Given the description of an element on the screen output the (x, y) to click on. 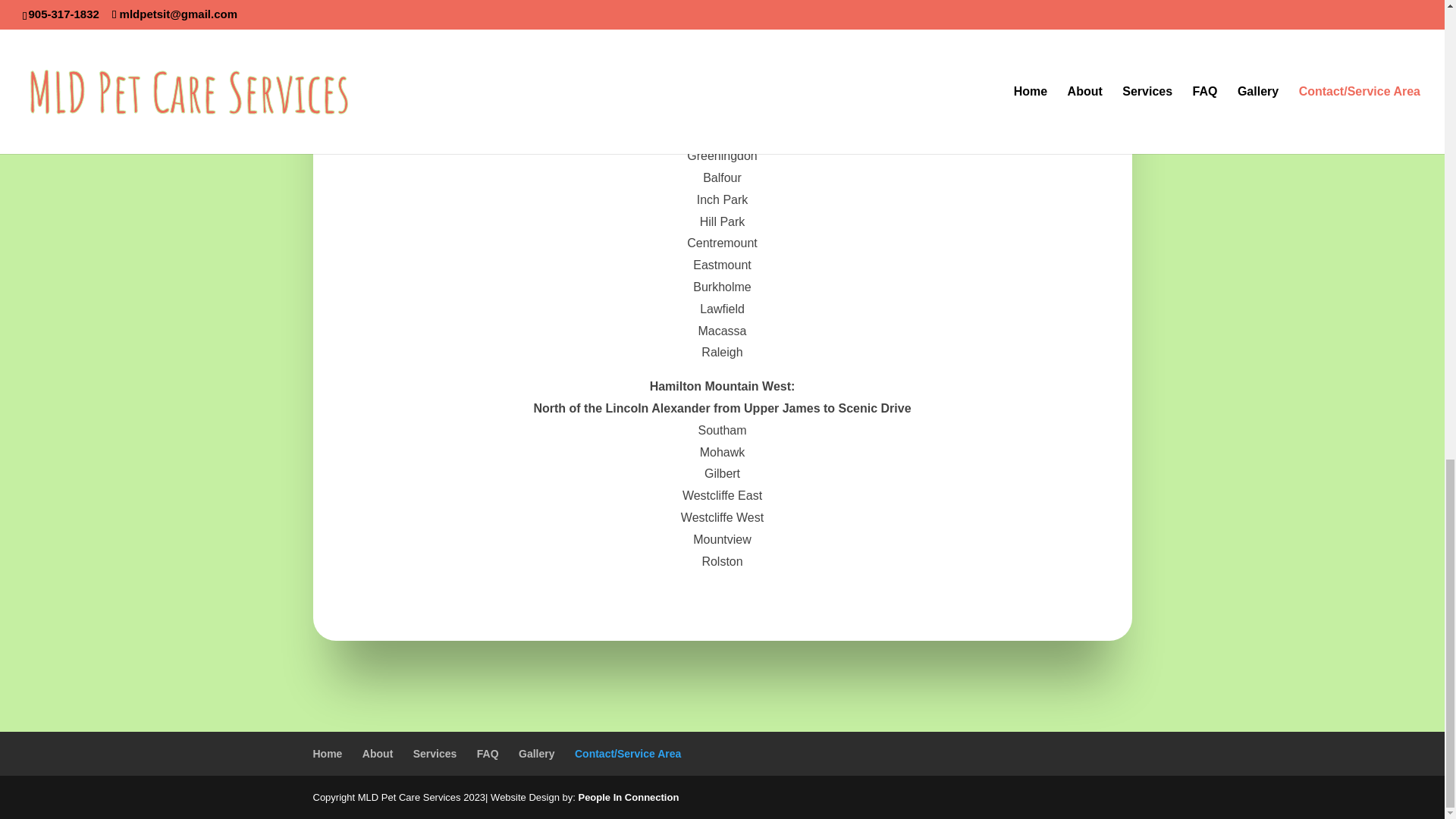
Gallery (536, 753)
Services (435, 753)
FAQ (488, 753)
About (377, 753)
Home (327, 753)
People In Connection (628, 797)
